Given the description of an element on the screen output the (x, y) to click on. 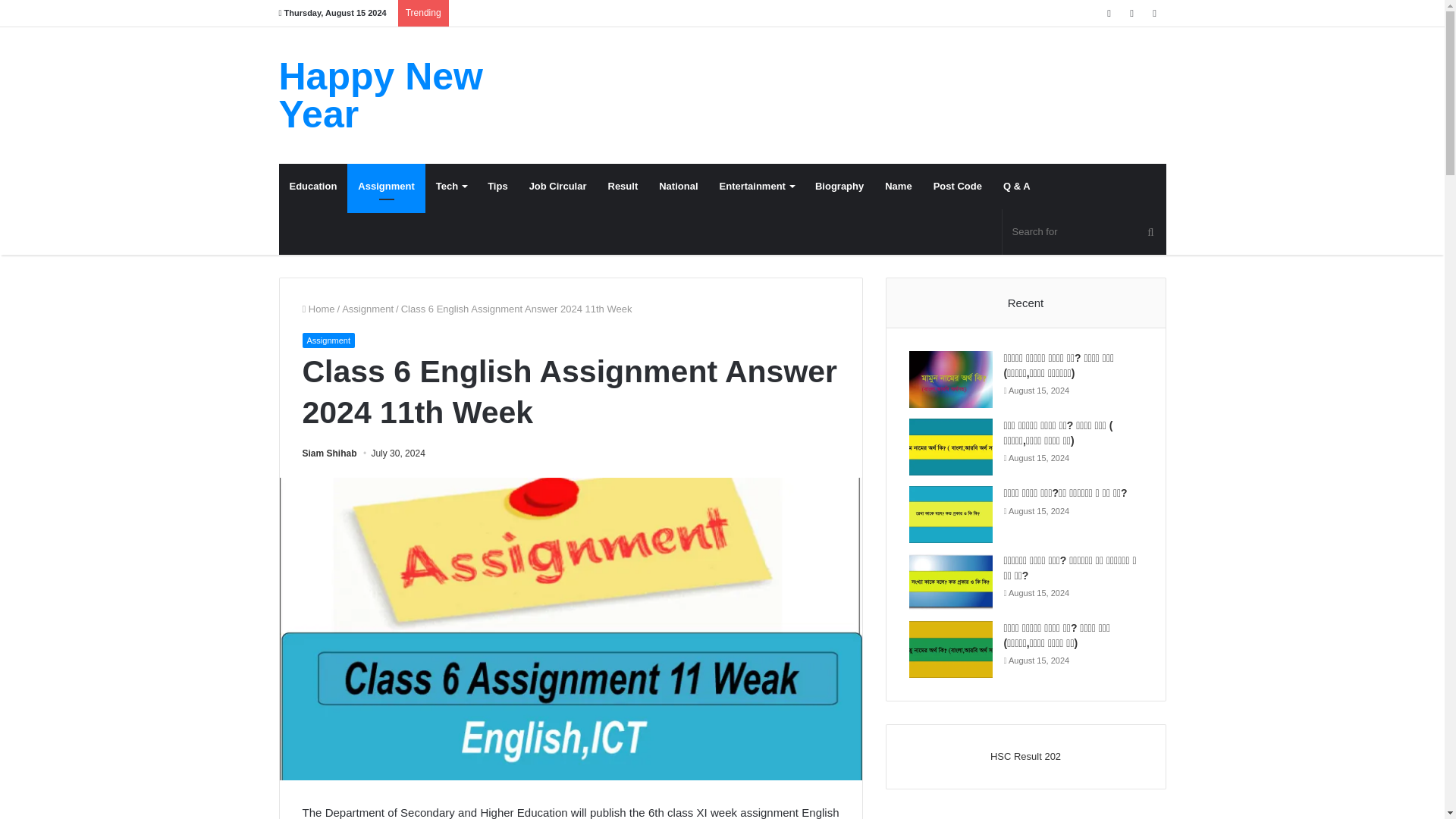
Assignment (367, 308)
Name (898, 186)
Search for (1084, 231)
Happy New Year (419, 95)
Result (622, 186)
Happy New Year (419, 95)
Assignment (386, 186)
Siam Shihab (328, 452)
Post Code (957, 186)
Job Circular (557, 186)
